Given the description of an element on the screen output the (x, y) to click on. 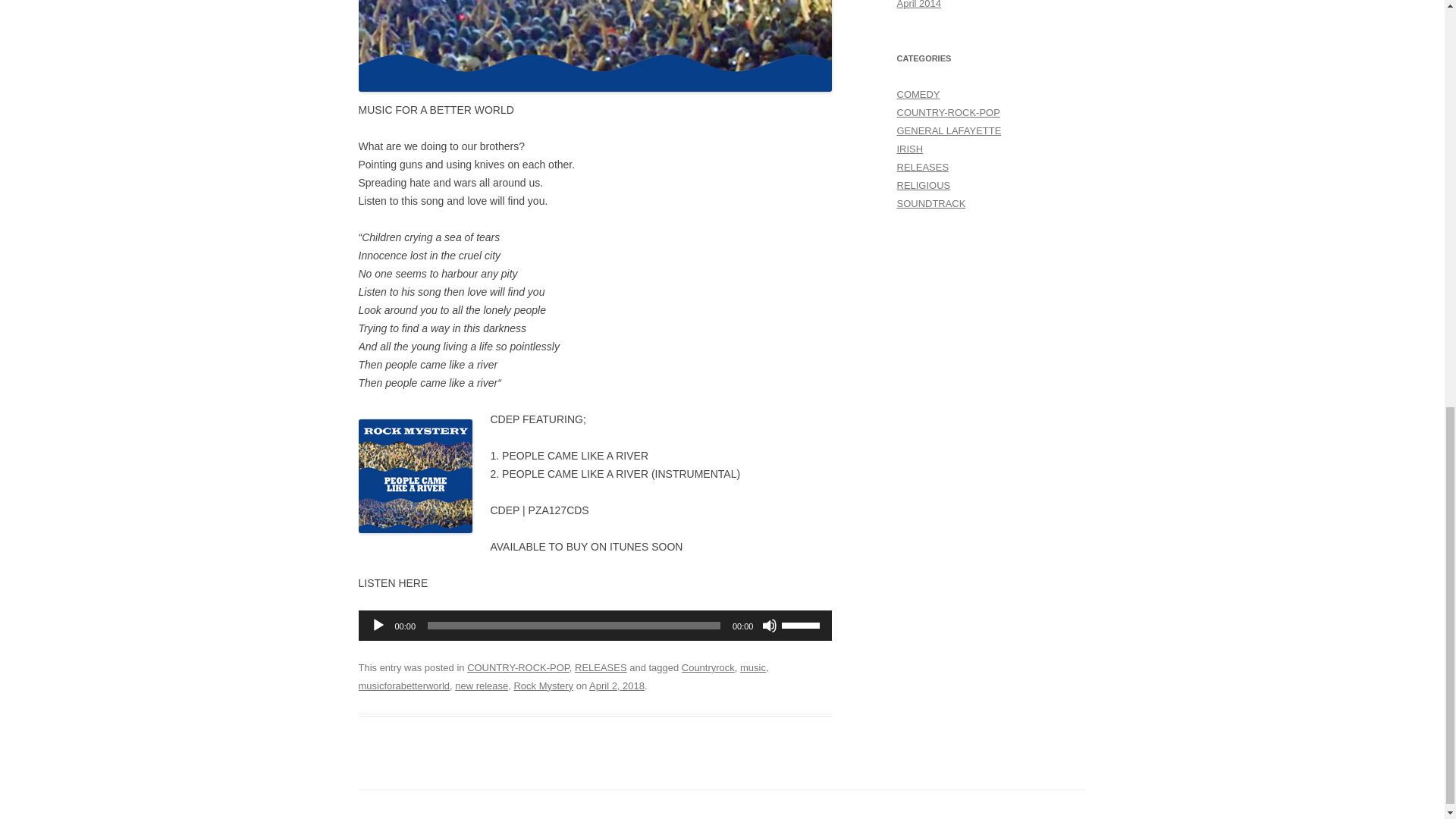
Countryrock (708, 667)
new release (481, 685)
music (752, 667)
4:57 pm (617, 685)
April 2, 2018 (617, 685)
COUNTRY-ROCK-POP (518, 667)
RELEASES (601, 667)
musicforabetterworld (403, 685)
Rock Mystery (543, 685)
Mute (769, 625)
